Given the description of an element on the screen output the (x, y) to click on. 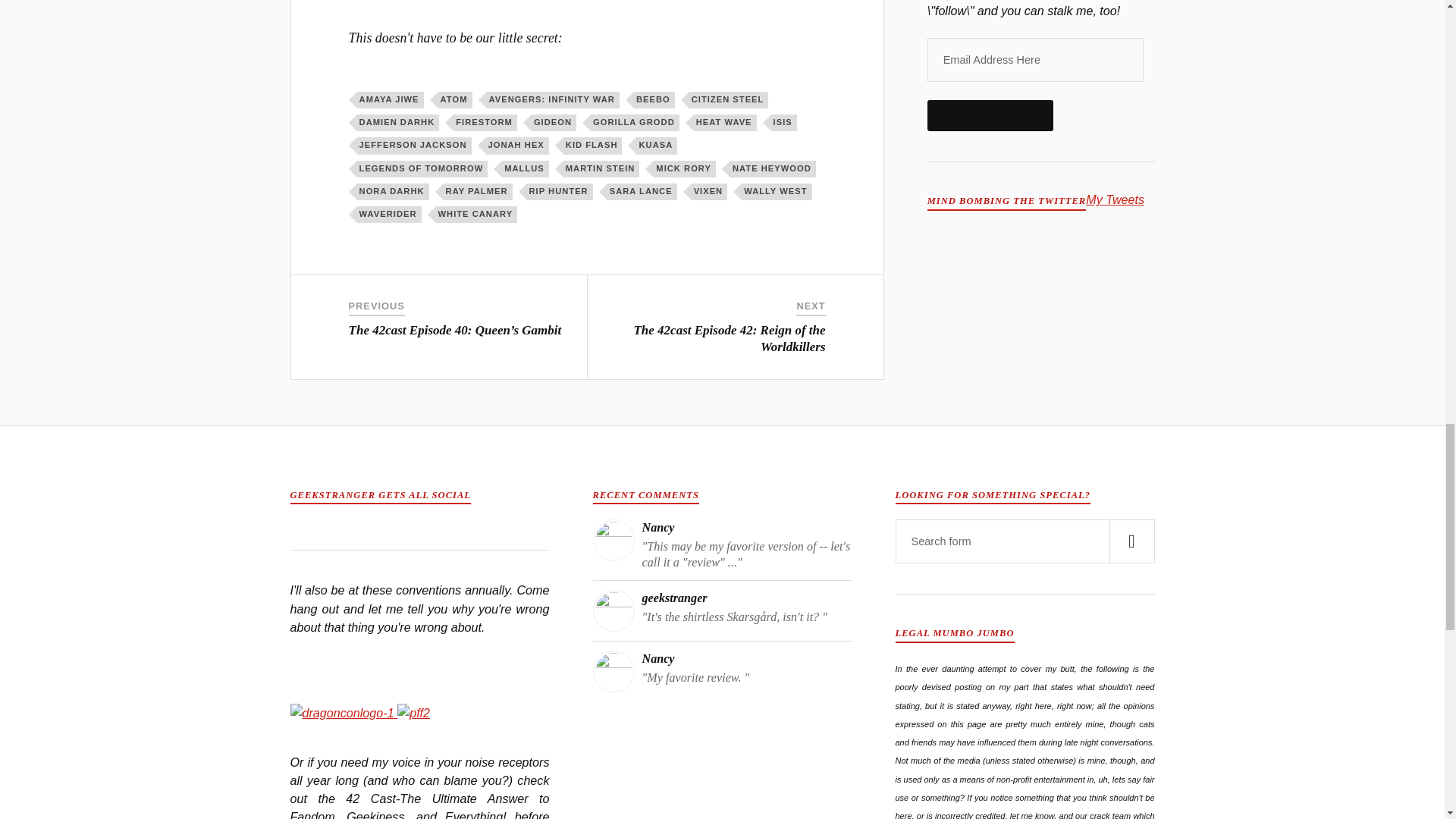
BEEBO (654, 99)
DAMIEN DARHK (397, 122)
CITIZEN STEEL (728, 99)
AMAYA JIWE (389, 99)
FIRESTORM (484, 122)
ATOM (454, 99)
GORILLA GRODD (635, 122)
AVENGERS: INFINITY WAR (553, 99)
GIDEON (553, 122)
